Given the description of an element on the screen output the (x, y) to click on. 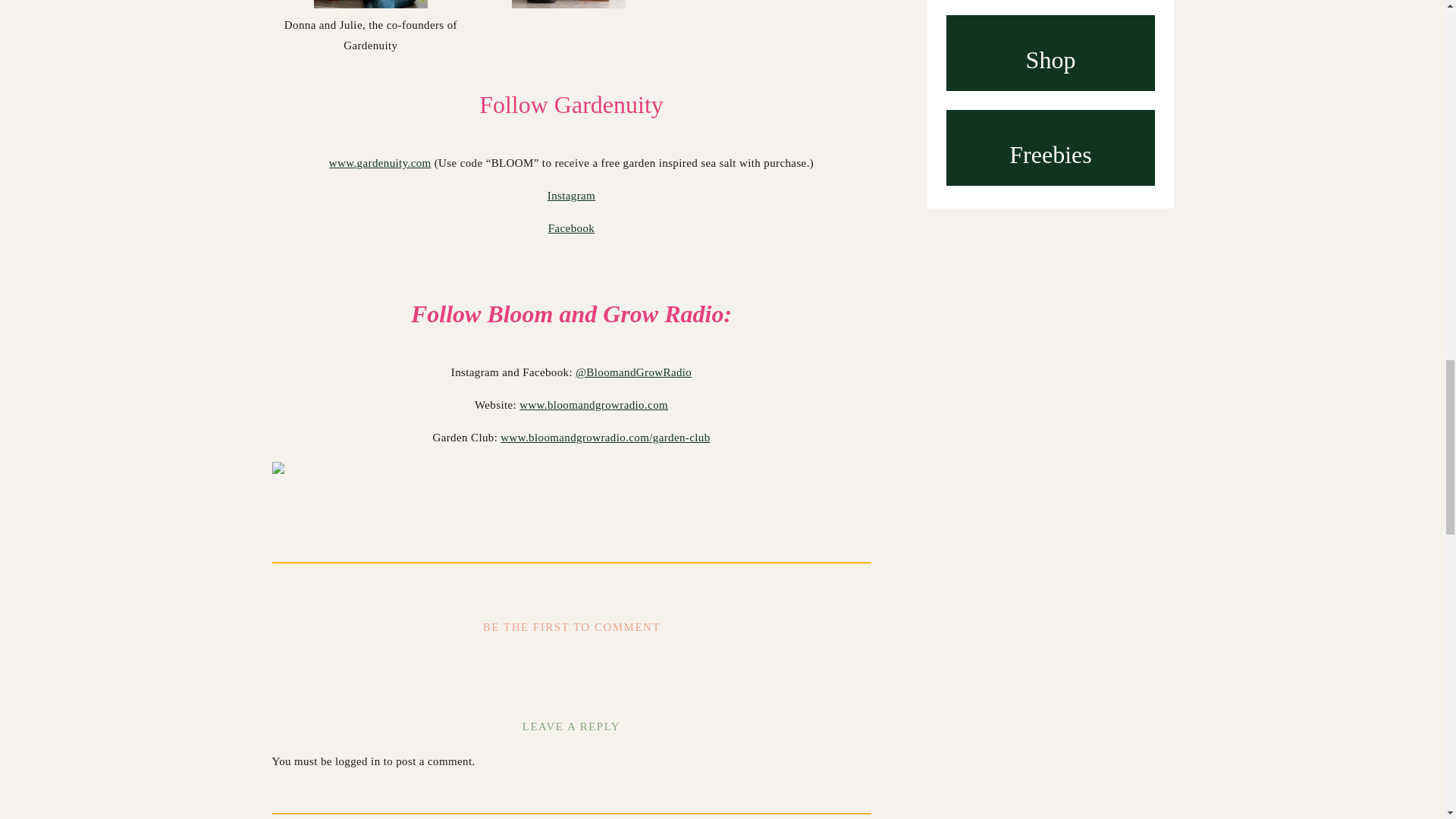
Shop (1050, 55)
Episode 39: Growing Your Business Like You Tend Your Garden (1049, 104)
Freebies (1050, 150)
